Given the description of an element on the screen output the (x, y) to click on. 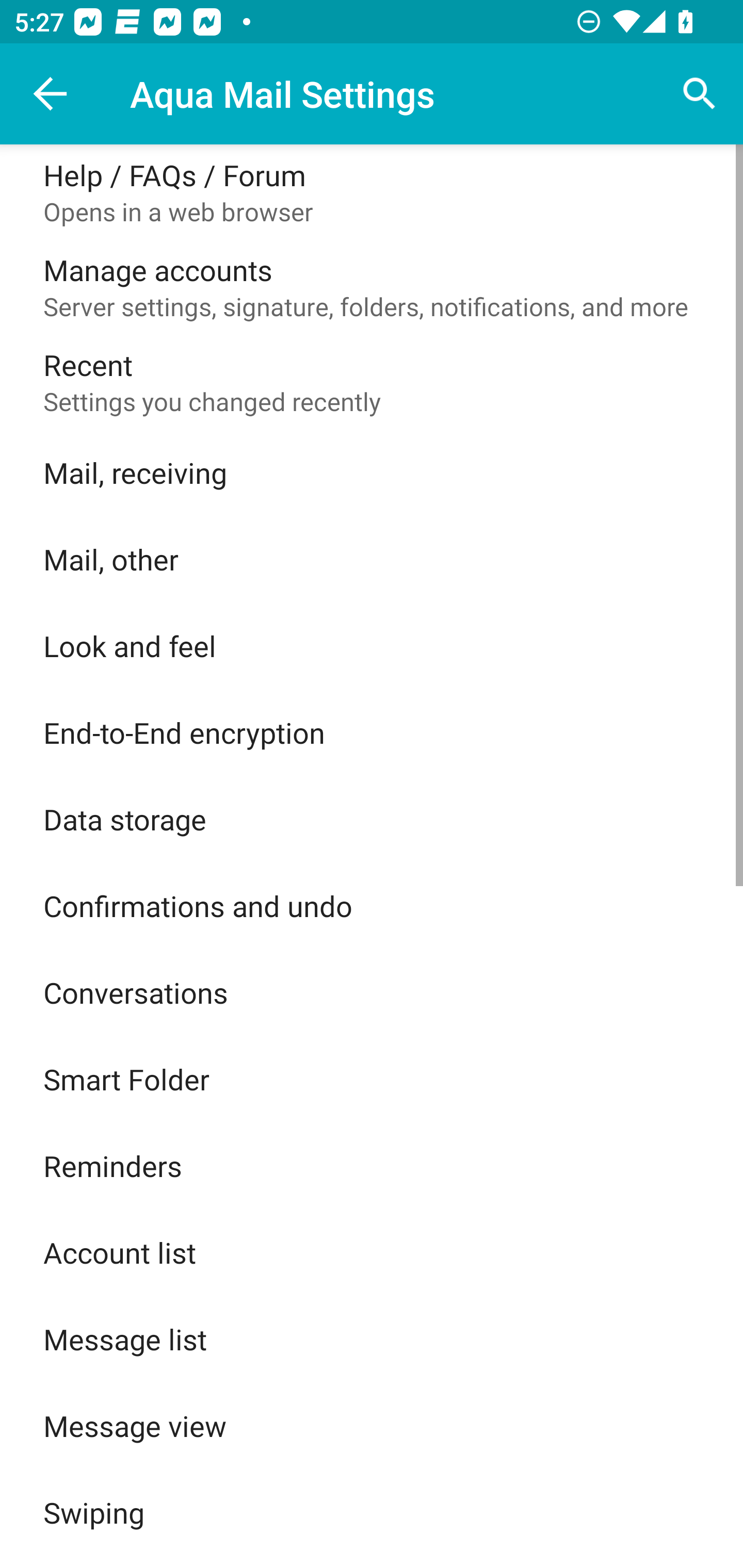
Navigate up (50, 93)
Search (699, 93)
Help / FAQs / Forum Opens in a web browser (371, 191)
Recent Settings you changed recently (371, 381)
Mail, receiving (371, 472)
Mail, other (371, 558)
Look and feel (371, 645)
End-to-End encryption (371, 732)
Data storage (371, 819)
Confirmations and undo (371, 905)
Conversations (371, 992)
Smart Folder (371, 1079)
Reminders (371, 1165)
Account list (371, 1251)
Message list (371, 1338)
Message view (371, 1425)
Swiping (371, 1512)
